Given the description of an element on the screen output the (x, y) to click on. 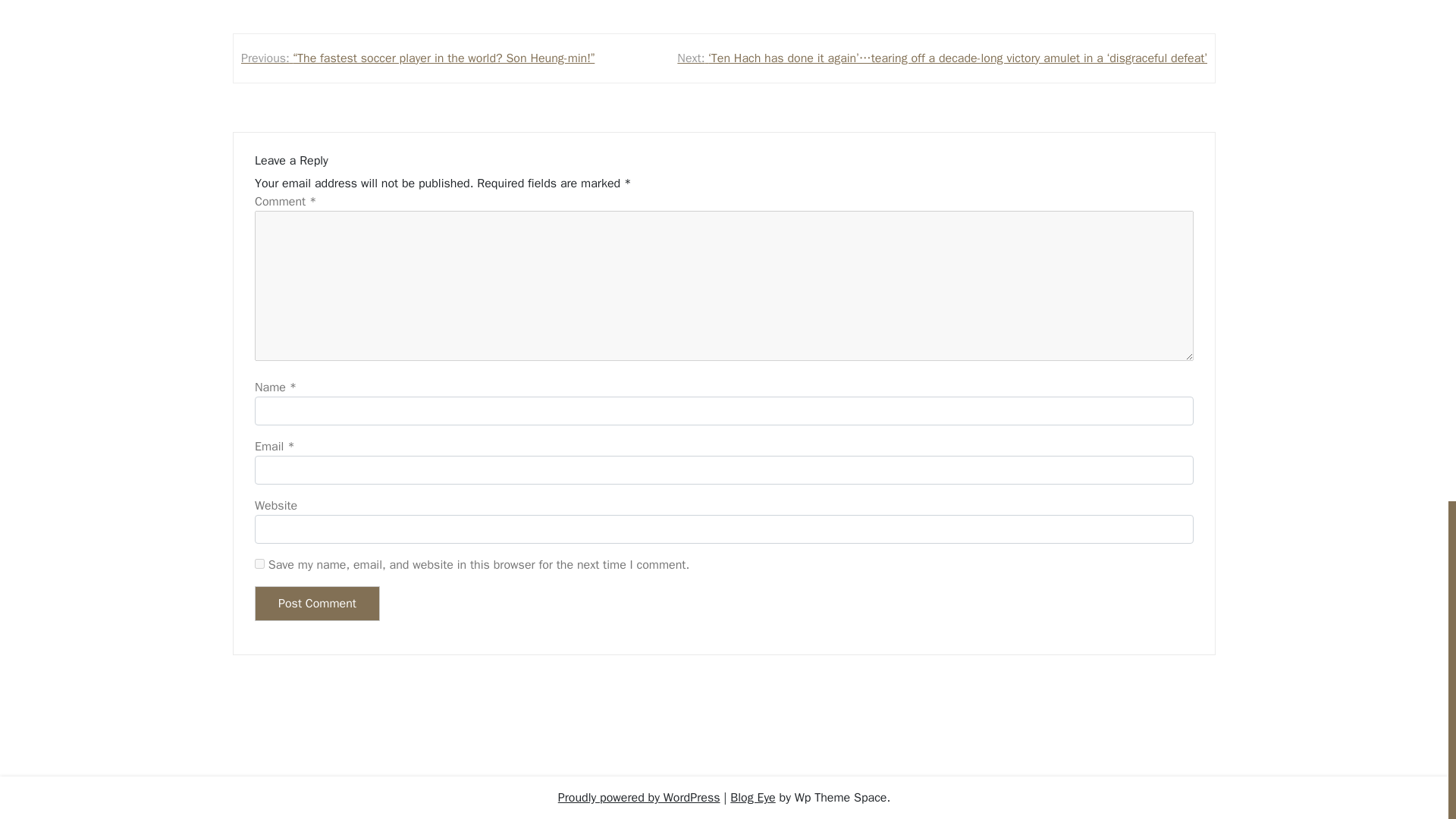
Post Comment (317, 603)
Proudly powered by WordPress (638, 797)
Post Comment (317, 603)
yes (259, 563)
Blog Eye (752, 797)
